Given the description of an element on the screen output the (x, y) to click on. 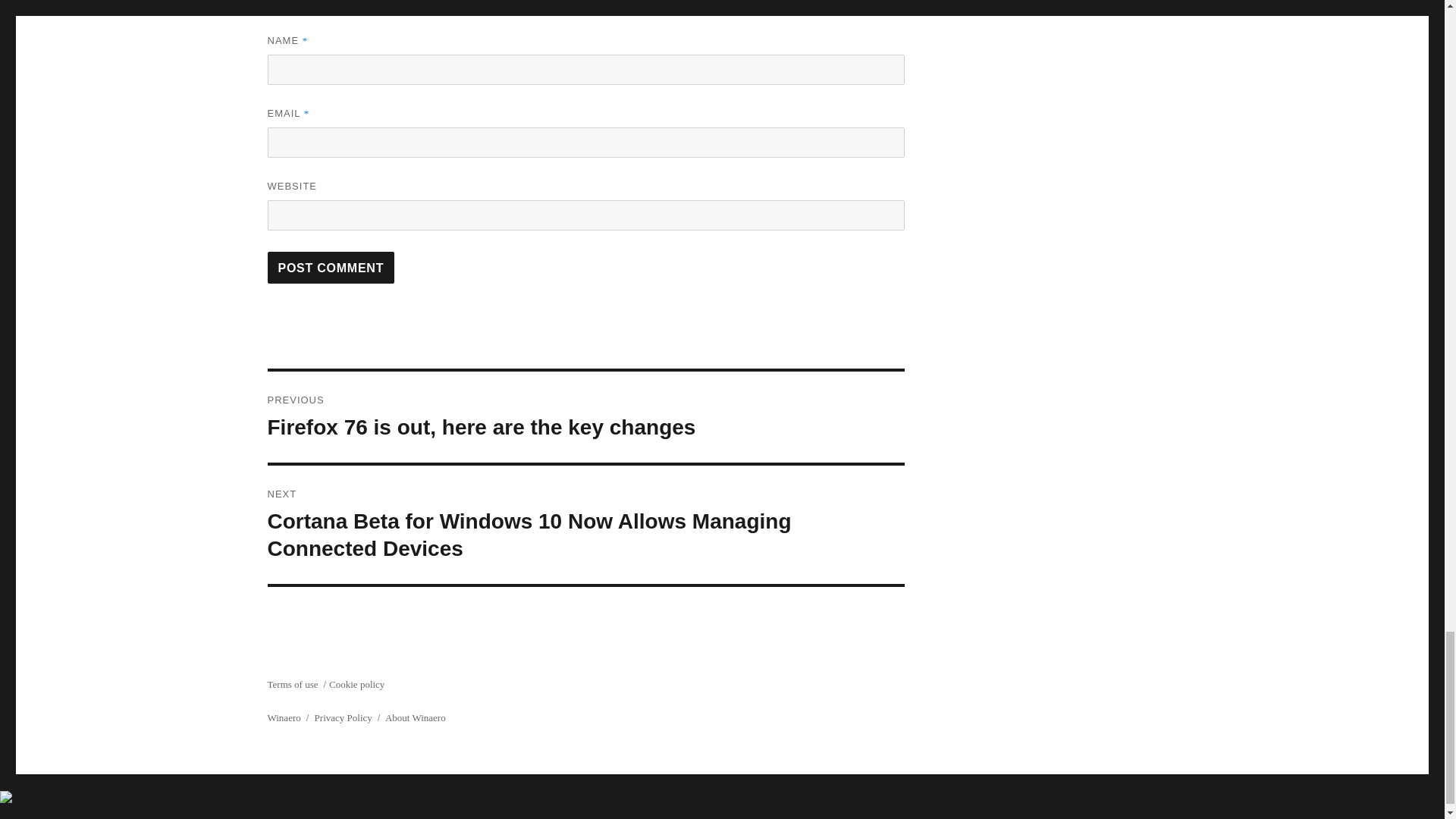
Post Comment (330, 267)
Post Comment (330, 267)
